Given the description of an element on the screen output the (x, y) to click on. 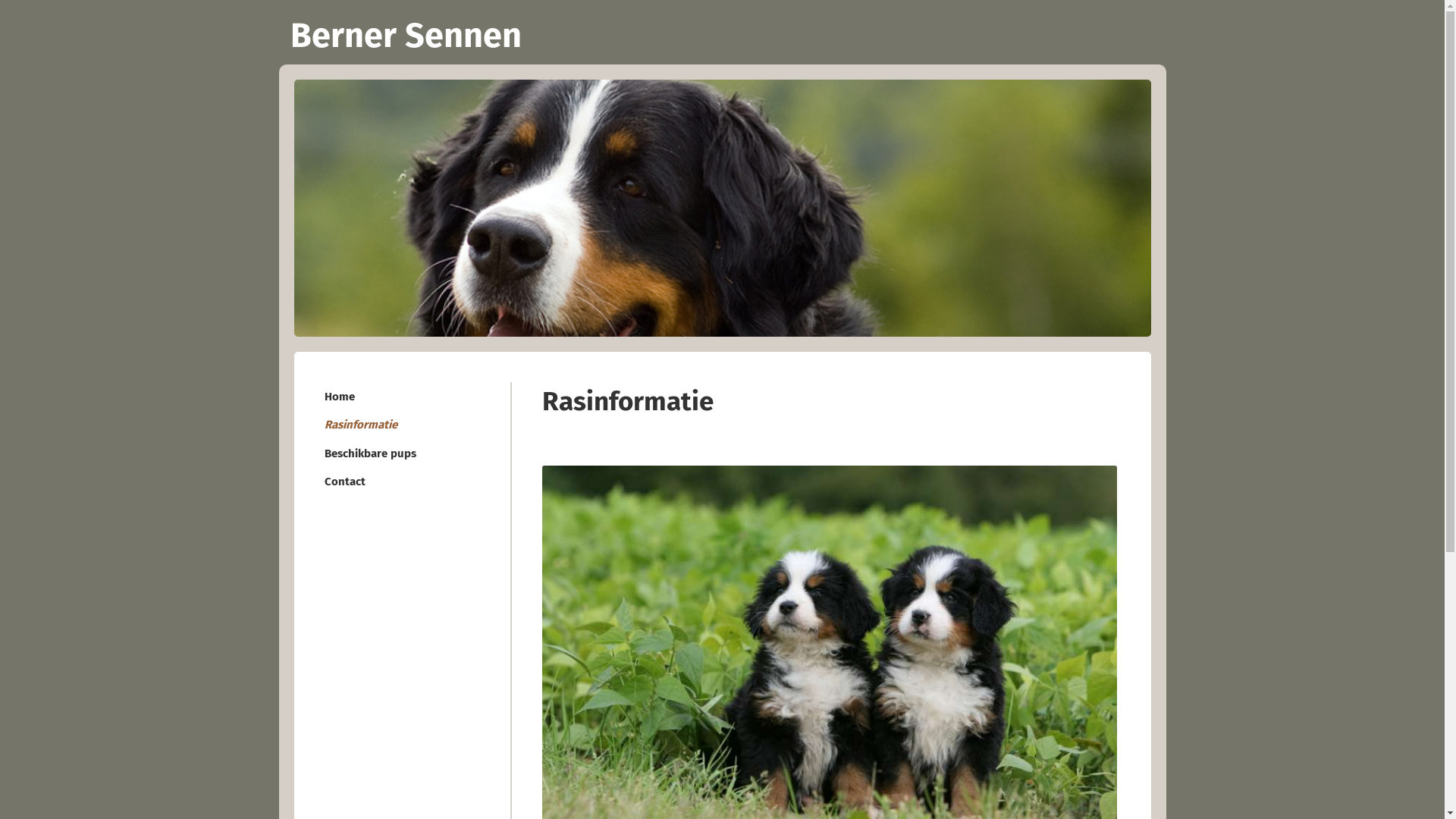
Home Element type: text (403, 396)
Rasinformatie Element type: text (403, 424)
Beschikbare pups Element type: text (403, 453)
Berner Sennen Element type: text (721, 32)
Contact Element type: text (403, 481)
